Given the description of an element on the screen output the (x, y) to click on. 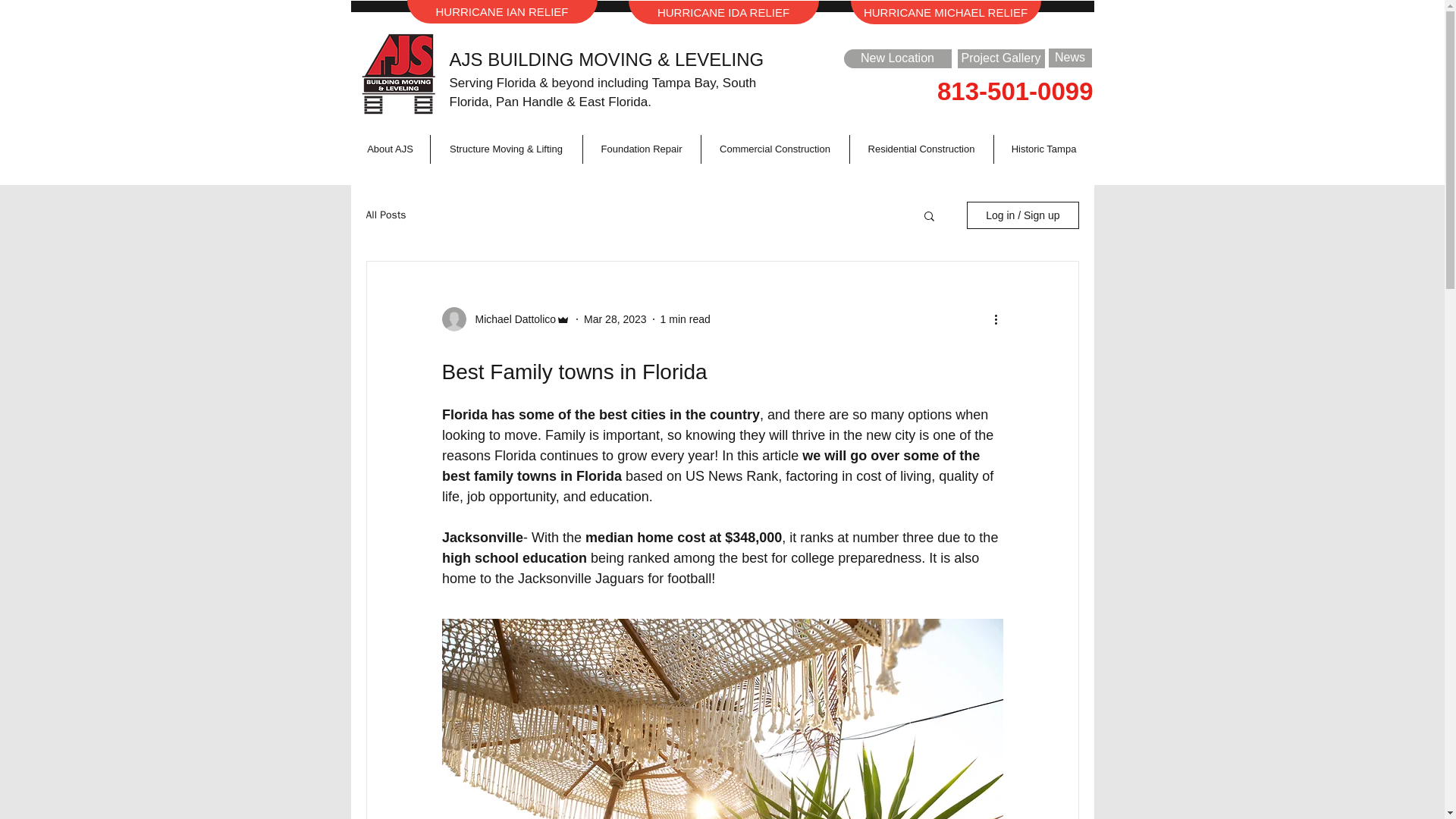
Historic Tampa (1042, 149)
Foundation Repair (641, 149)
Project Gallery (999, 58)
News (1069, 57)
All Posts (385, 214)
HURRICANE IAN RELIEF (501, 11)
New Location (896, 58)
Michael Dattolico (510, 318)
HURRICANE MICHAEL RELIEF (945, 12)
HURRICANE IDA RELIEF (722, 12)
